Given the description of an element on the screen output the (x, y) to click on. 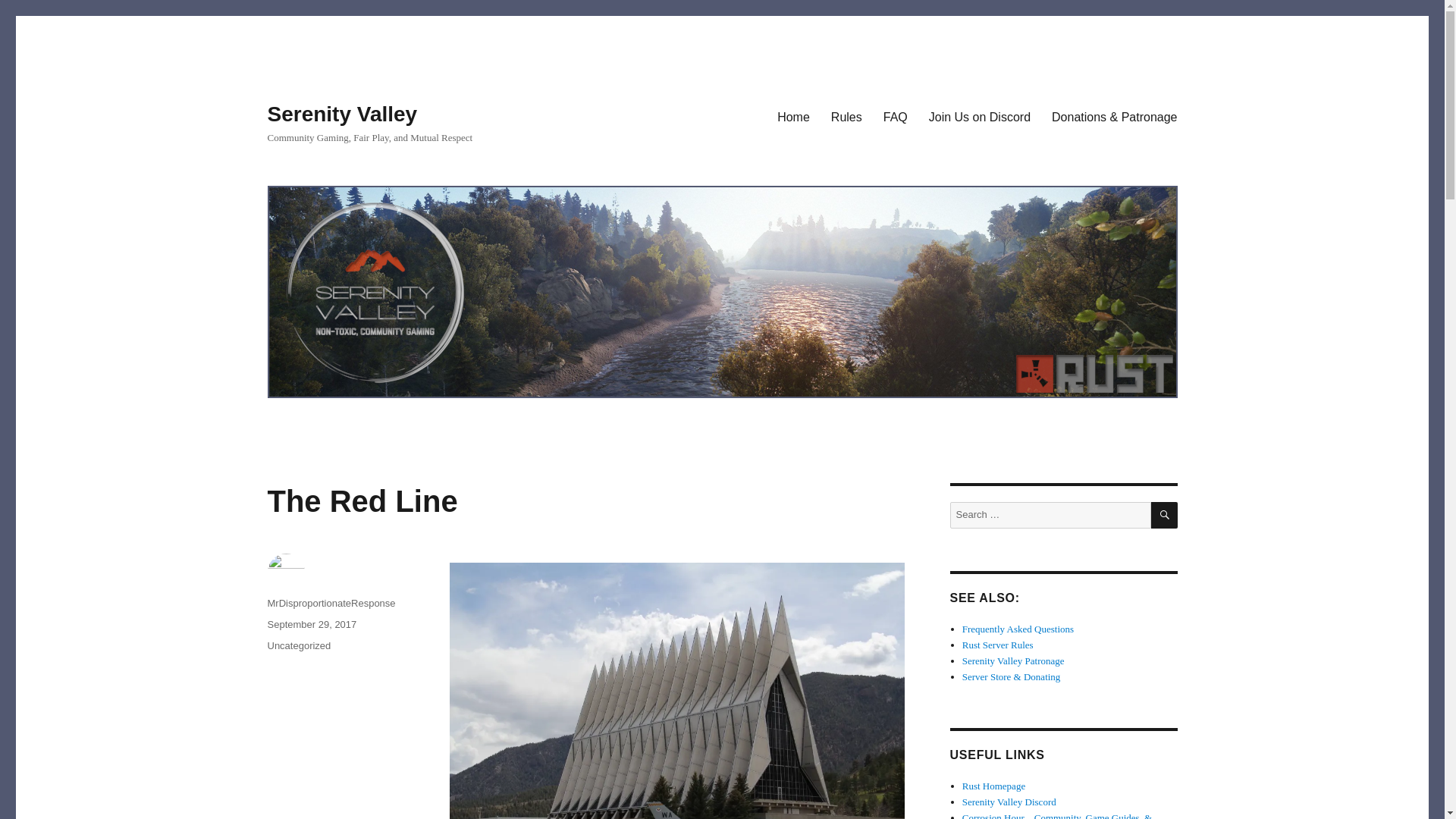
Frequently Asked Questions (1018, 628)
Serenity Valley Patronage (1013, 660)
Uncategorized (298, 645)
Join Us on Discord (979, 116)
MrDisproportionateResponse (330, 603)
SEARCH (1164, 515)
September 29, 2017 (311, 624)
FAQ (895, 116)
Home (794, 116)
Serenity Valley (341, 114)
